Given the description of an element on the screen output the (x, y) to click on. 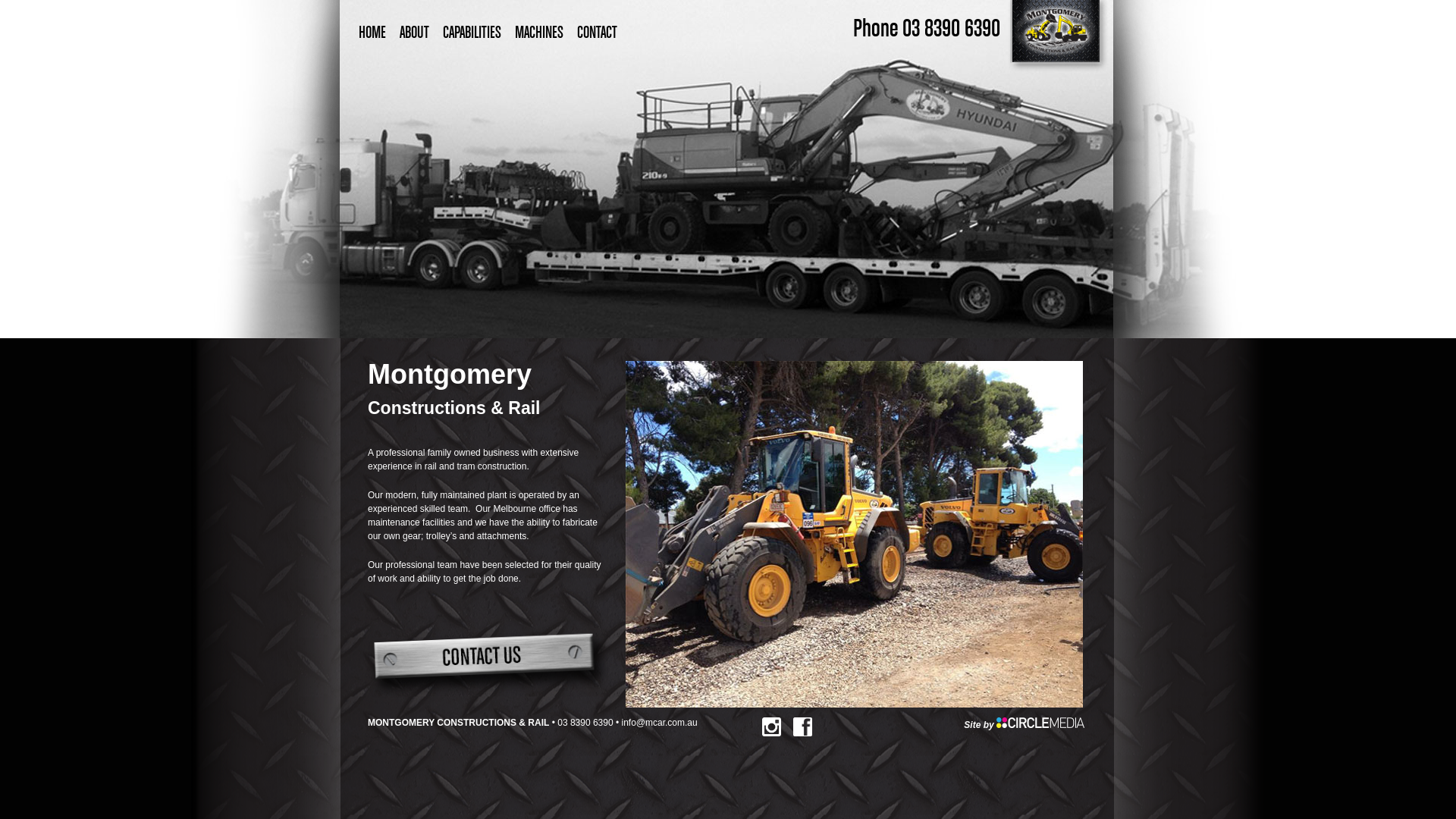
CONTACT Element type: text (597, 33)
HOME Element type: text (371, 33)
MACHINES Element type: text (538, 33)
Phone 03 8390 6390 Element type: text (926, 29)
CAPABILITIES Element type: text (471, 33)
03 8390 6390 Element type: text (584, 722)
info@mcar.com.au Element type: text (659, 722)
ABOUT Element type: text (414, 33)
